Given the description of an element on the screen output the (x, y) to click on. 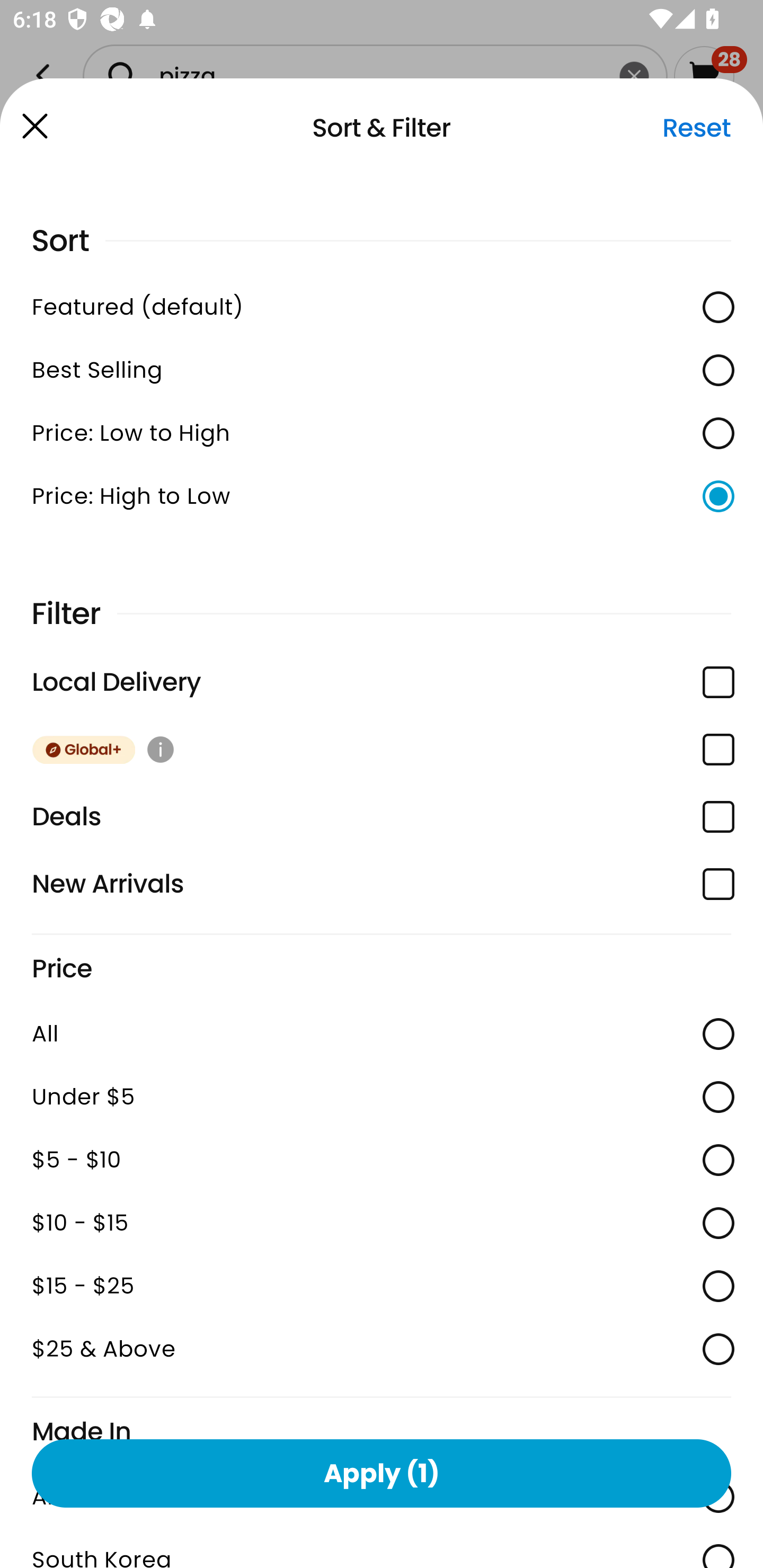
Reset (696, 127)
Apply (1) (381, 1472)
